Given the description of an element on the screen output the (x, y) to click on. 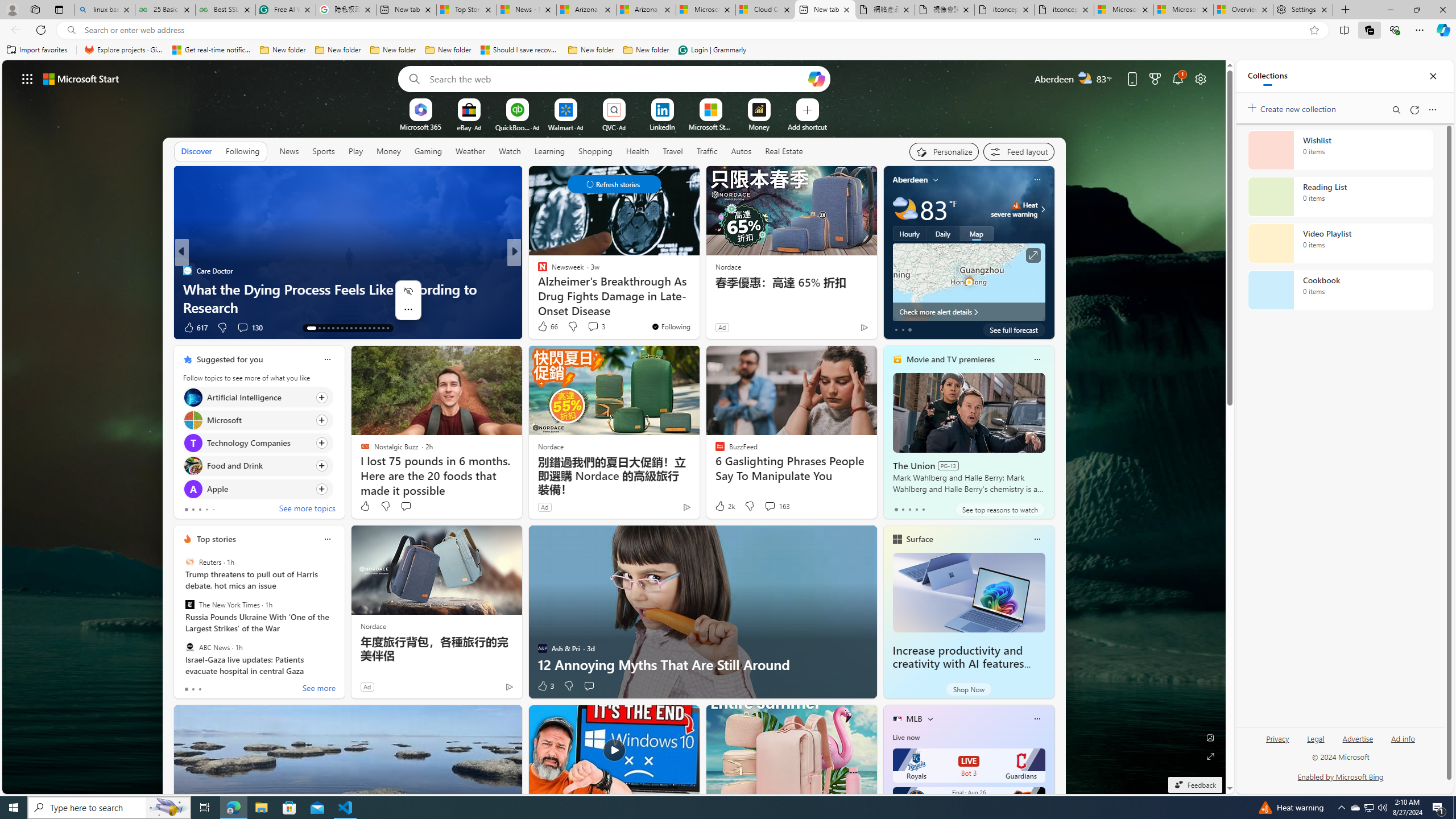
Click to follow topic Food and Drink (257, 465)
Autos (740, 151)
55 Like (543, 327)
3 Like (545, 685)
25 Basic Linux Commands For Beginners - GeeksforGeeks (164, 9)
tab-1 (192, 689)
tab-2 (199, 689)
AutomationID: tab-28 (382, 328)
Partly cloudy (904, 208)
Add a site (807, 126)
